Given the description of an element on the screen output the (x, y) to click on. 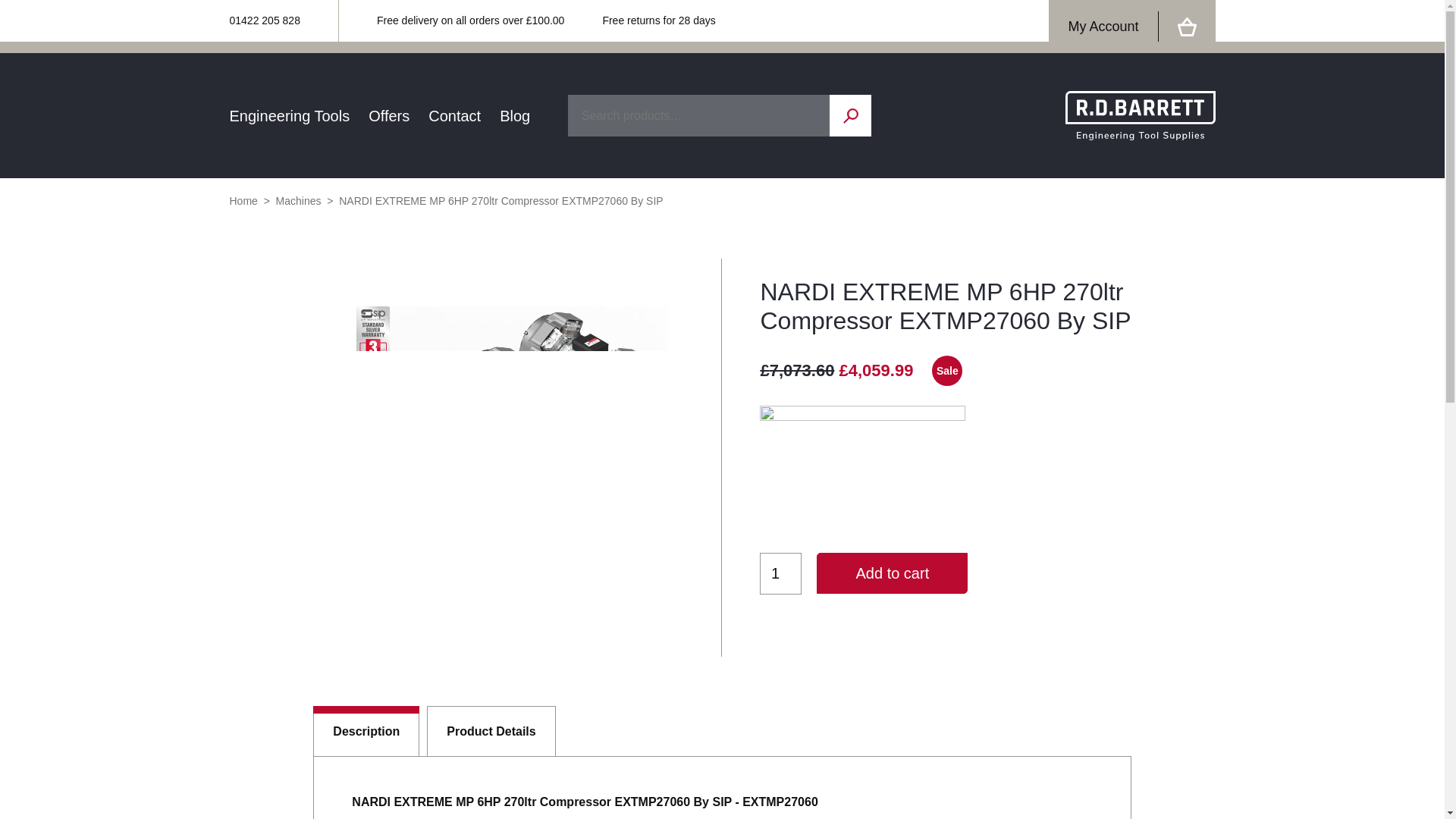
Contact (454, 114)
Machines (298, 200)
Home (242, 200)
01422 205 828 (263, 20)
1 (781, 573)
Blog (514, 114)
Engineering Tools (288, 114)
Offers (388, 114)
Add to cart (892, 572)
My Account (1102, 26)
Search (849, 115)
Description (366, 730)
Product Details (490, 730)
